Given the description of an element on the screen output the (x, y) to click on. 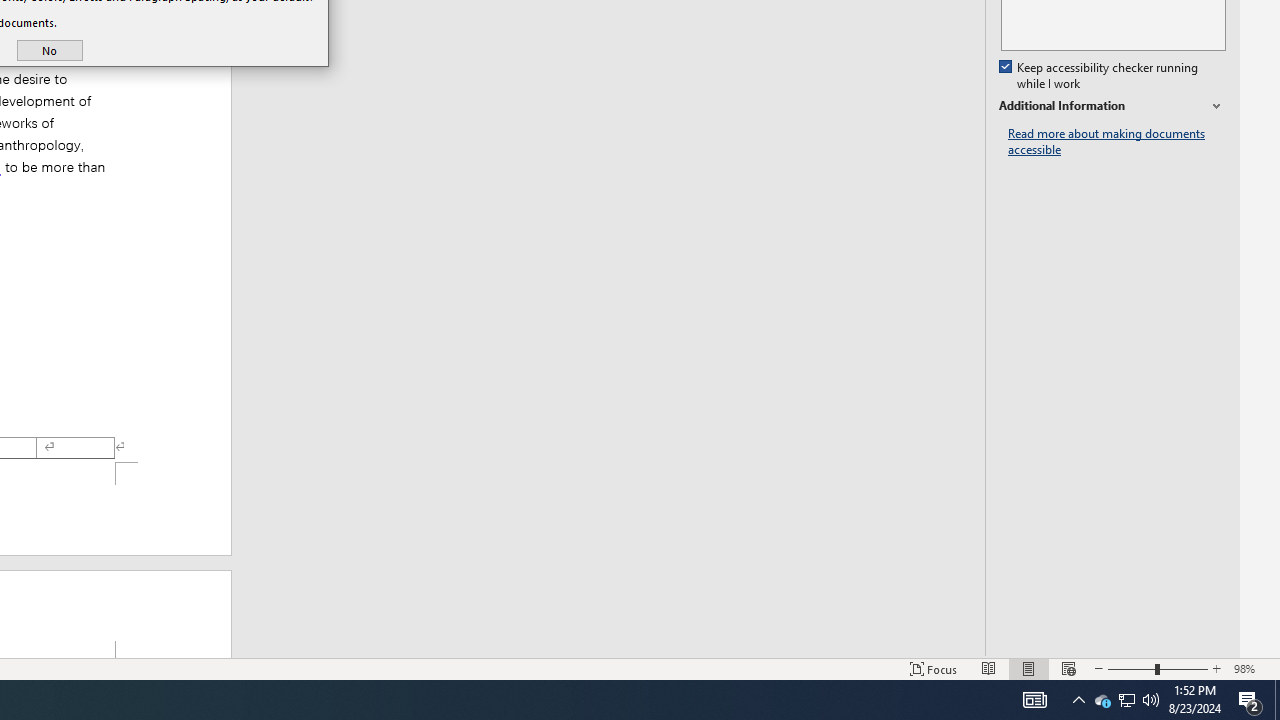
Read more about making documents accessible (1117, 142)
Additional Information (1112, 106)
No (49, 49)
